Given the description of an element on the screen output the (x, y) to click on. 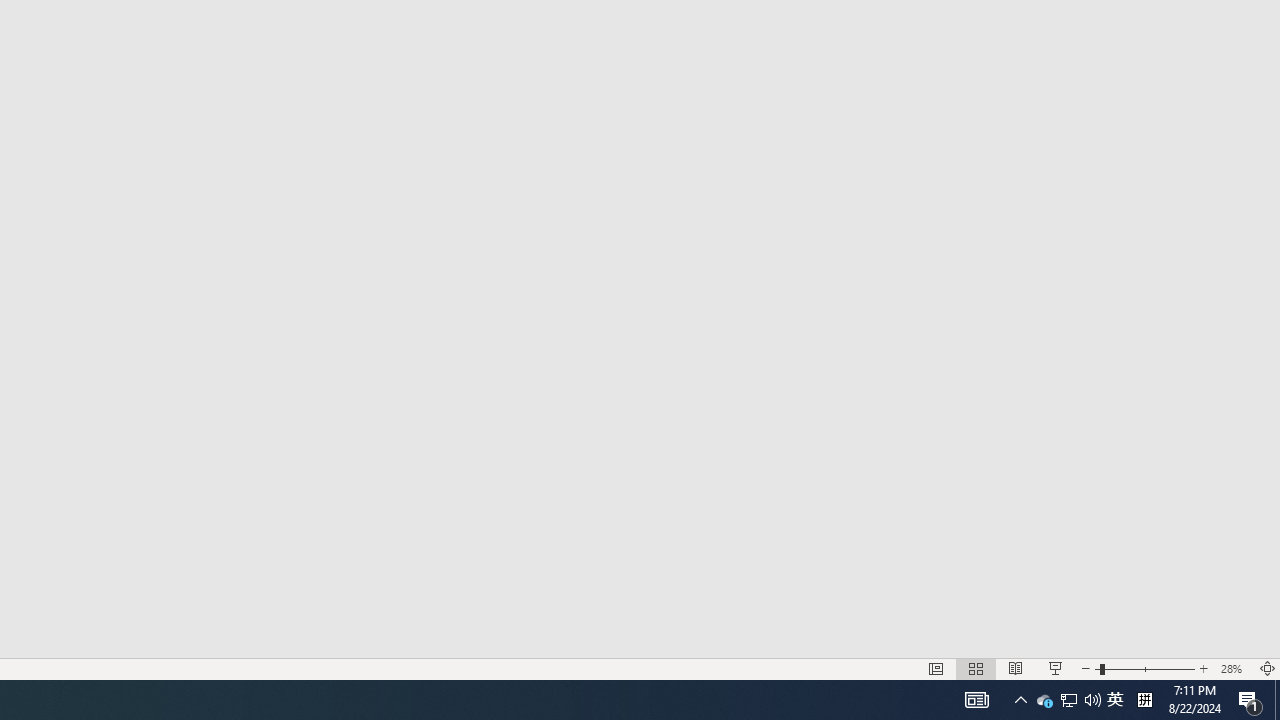
Zoom 28% (1234, 668)
